Given the description of an element on the screen output the (x, y) to click on. 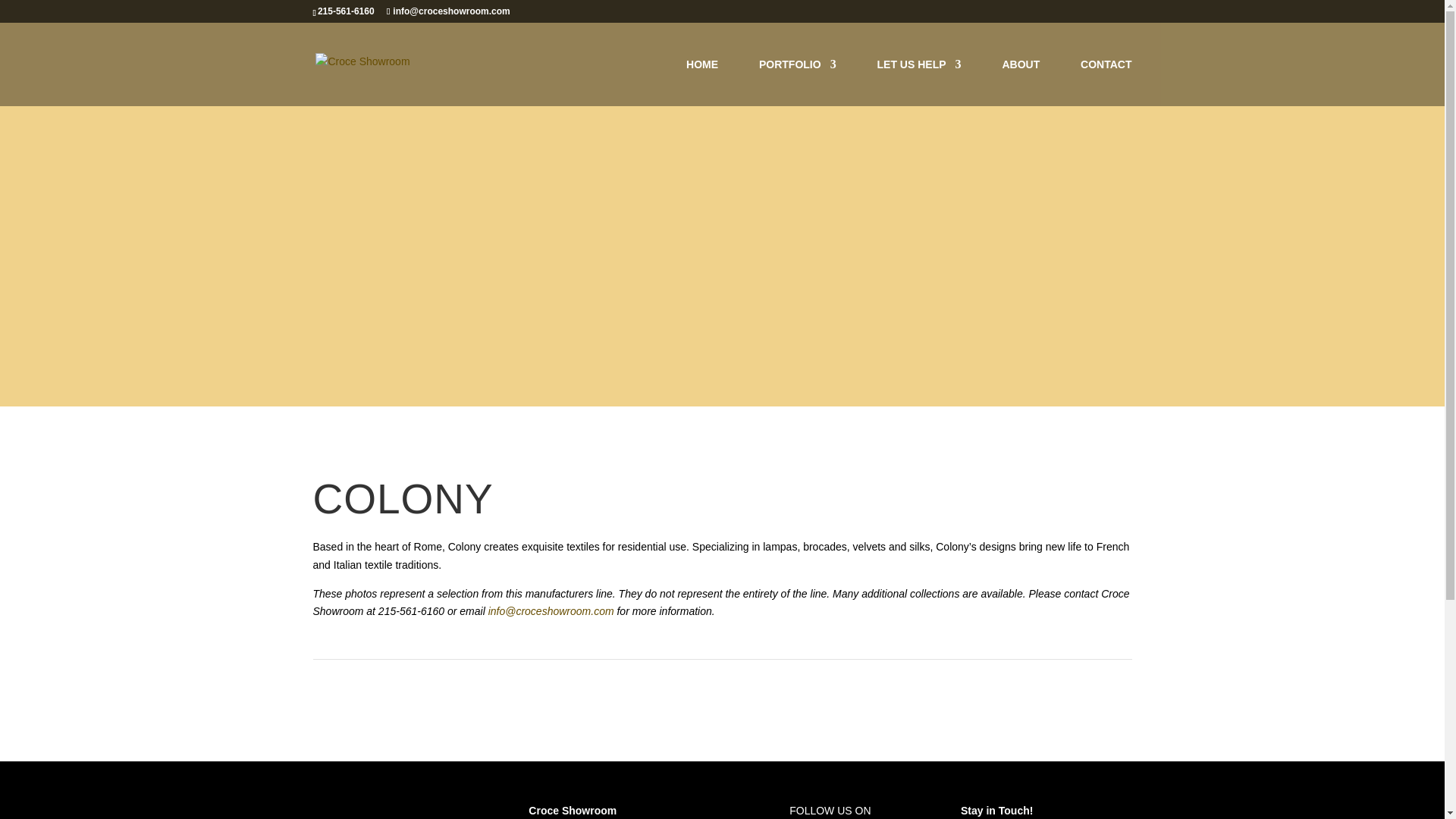
LET US HELP (918, 82)
PORTFOLIO (796, 82)
CONTACT (1105, 82)
